Given the description of an element on the screen output the (x, y) to click on. 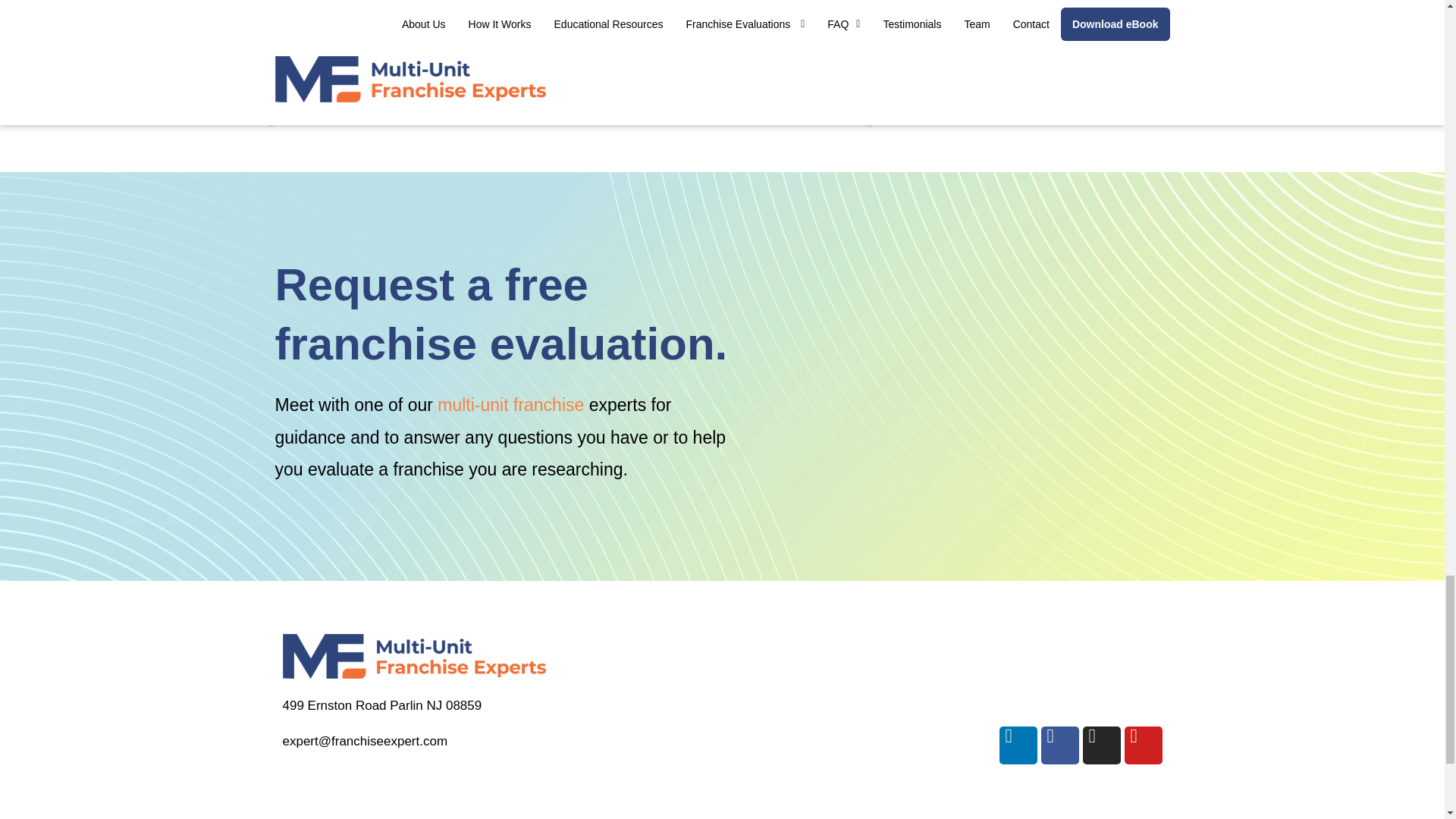
Request Evaluation (975, 372)
